Given the description of an element on the screen output the (x, y) to click on. 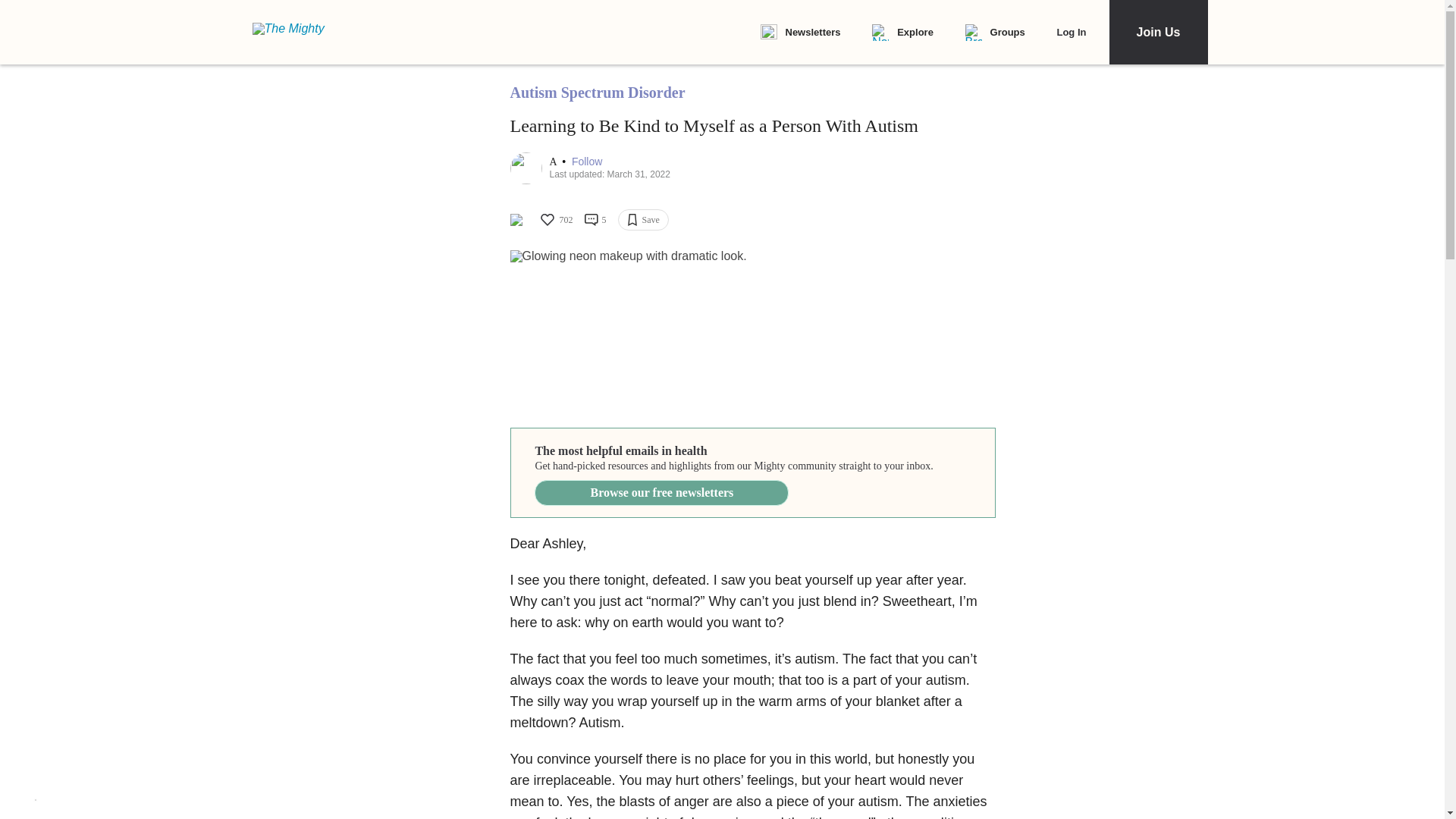
Being Kind to Myself as a Person With Autism (751, 331)
Autism Spectrum Disorder (596, 92)
Join Us (1157, 32)
Save (642, 219)
Groups (995, 32)
Browse our free newsletters (661, 492)
5 (594, 219)
Explore (902, 32)
702 (555, 219)
Follow (587, 161)
